Given the description of an element on the screen output the (x, y) to click on. 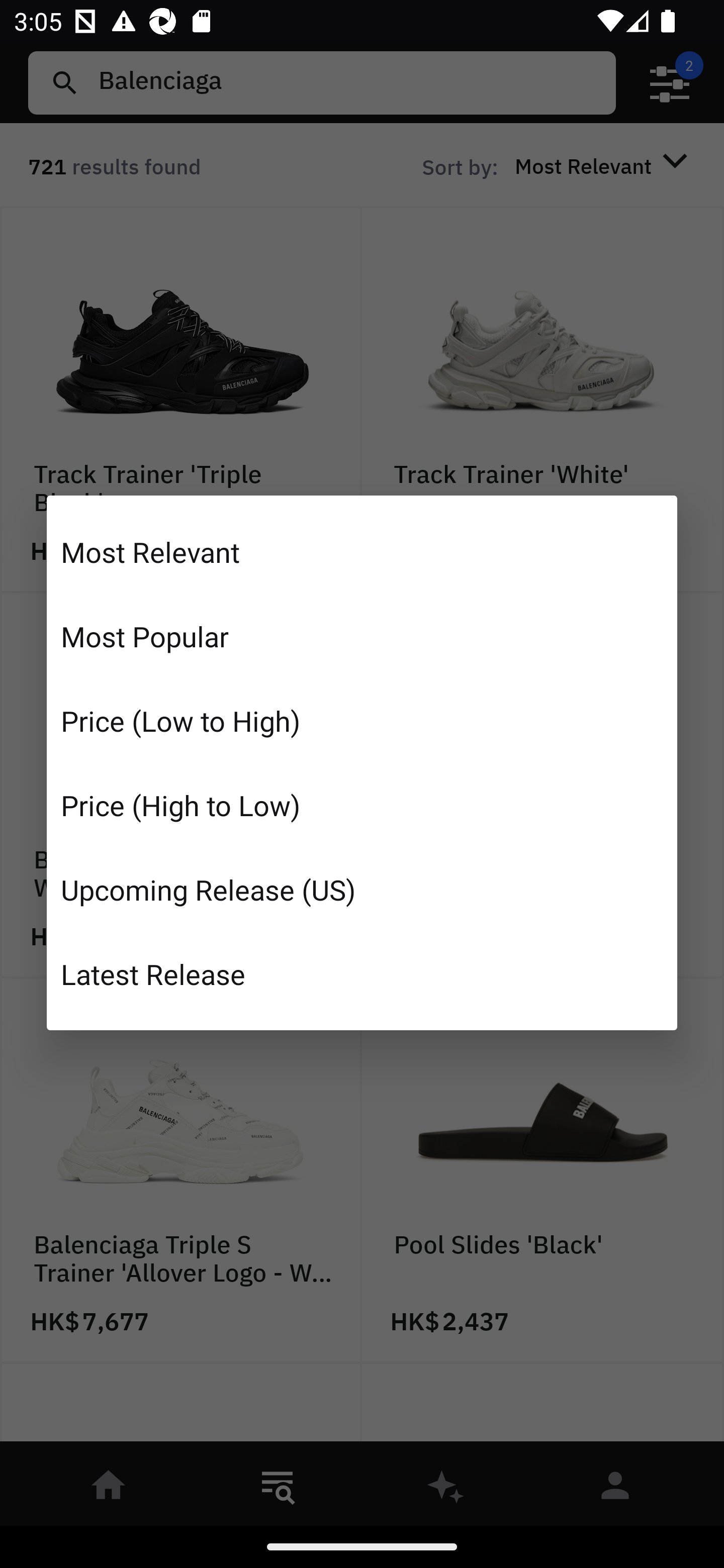
Most Relevant (361, 551)
Most Popular (361, 636)
Price (Low to High) (361, 720)
Price (High to Low) (361, 804)
Upcoming Release (US) (361, 888)
Latest Release (361, 973)
